Given the description of an element on the screen output the (x, y) to click on. 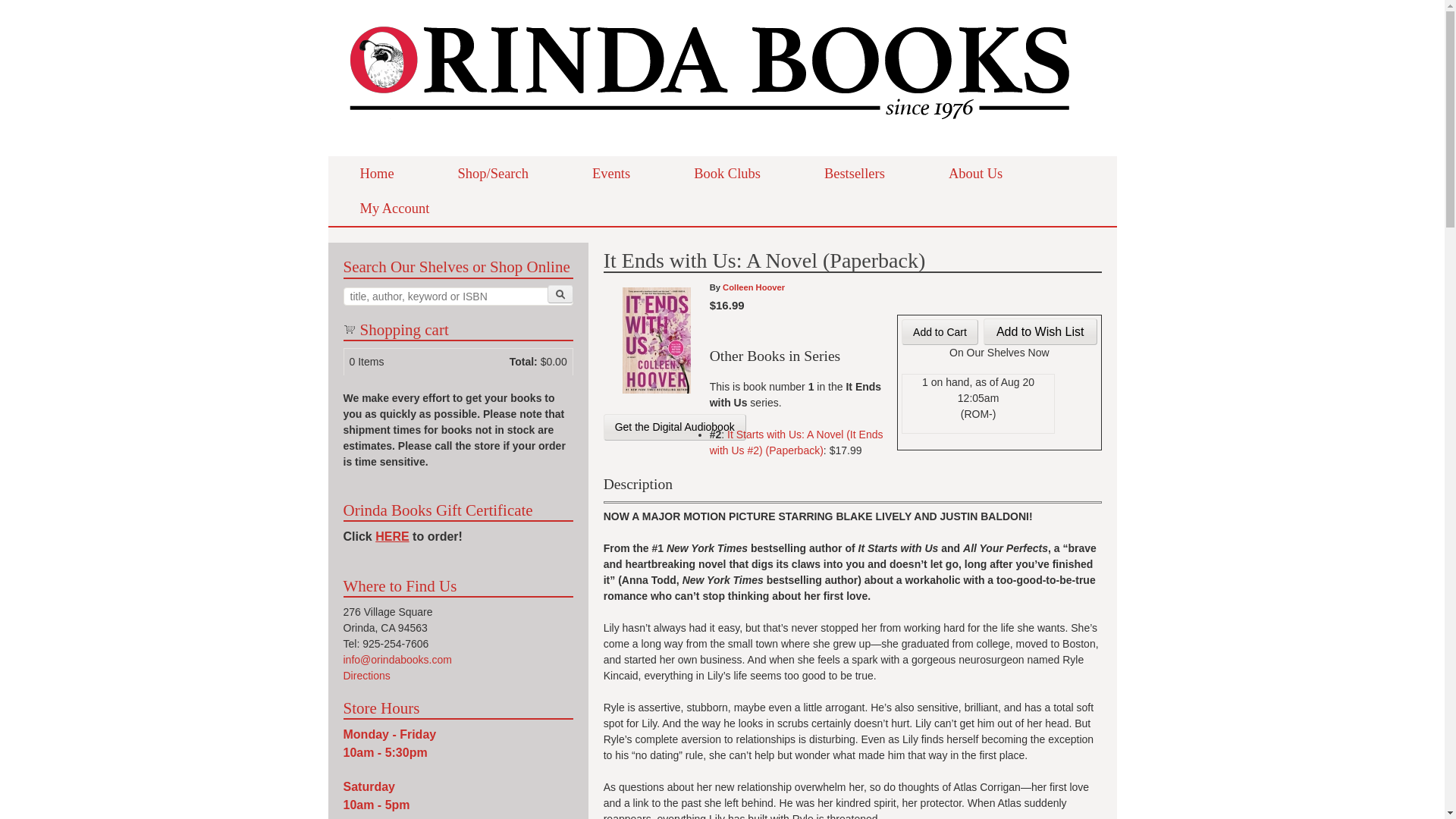
Add to Wish List (1040, 331)
Search (560, 294)
Add to Cart (939, 331)
Search (560, 294)
View your shopping cart. (348, 328)
Book Clubs (727, 173)
Directions (366, 675)
Bestsellers (854, 173)
Home page (709, 132)
Add to Cart (939, 331)
